Given the description of an element on the screen output the (x, y) to click on. 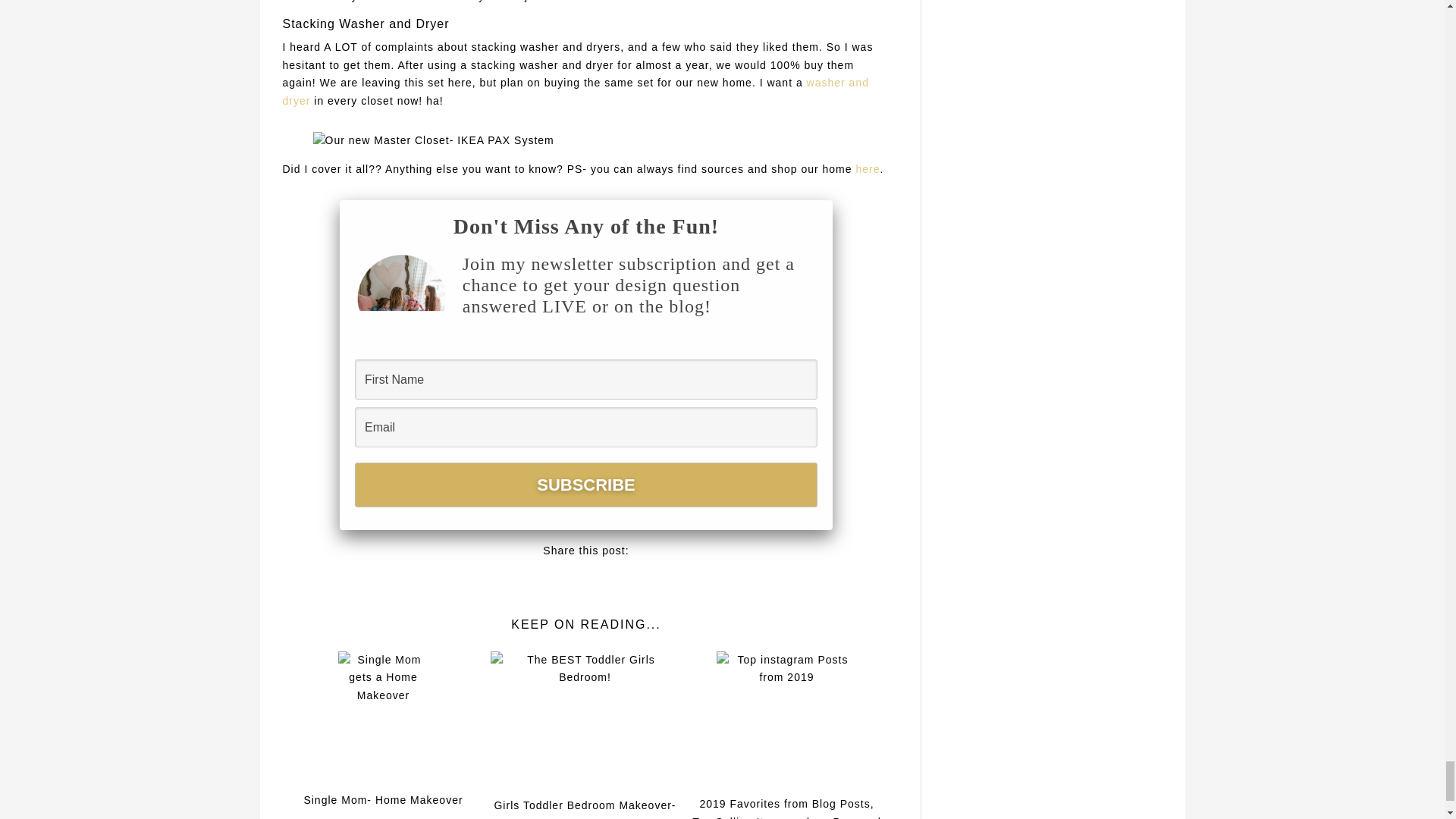
Subscribe (585, 484)
washer and dryer (574, 91)
here (867, 168)
Permanent Link to Single Mom- Home Makeover (382, 799)
Subscribe (585, 484)
Permanent Link to Single Mom- Home Makeover (383, 726)
